Given the description of an element on the screen output the (x, y) to click on. 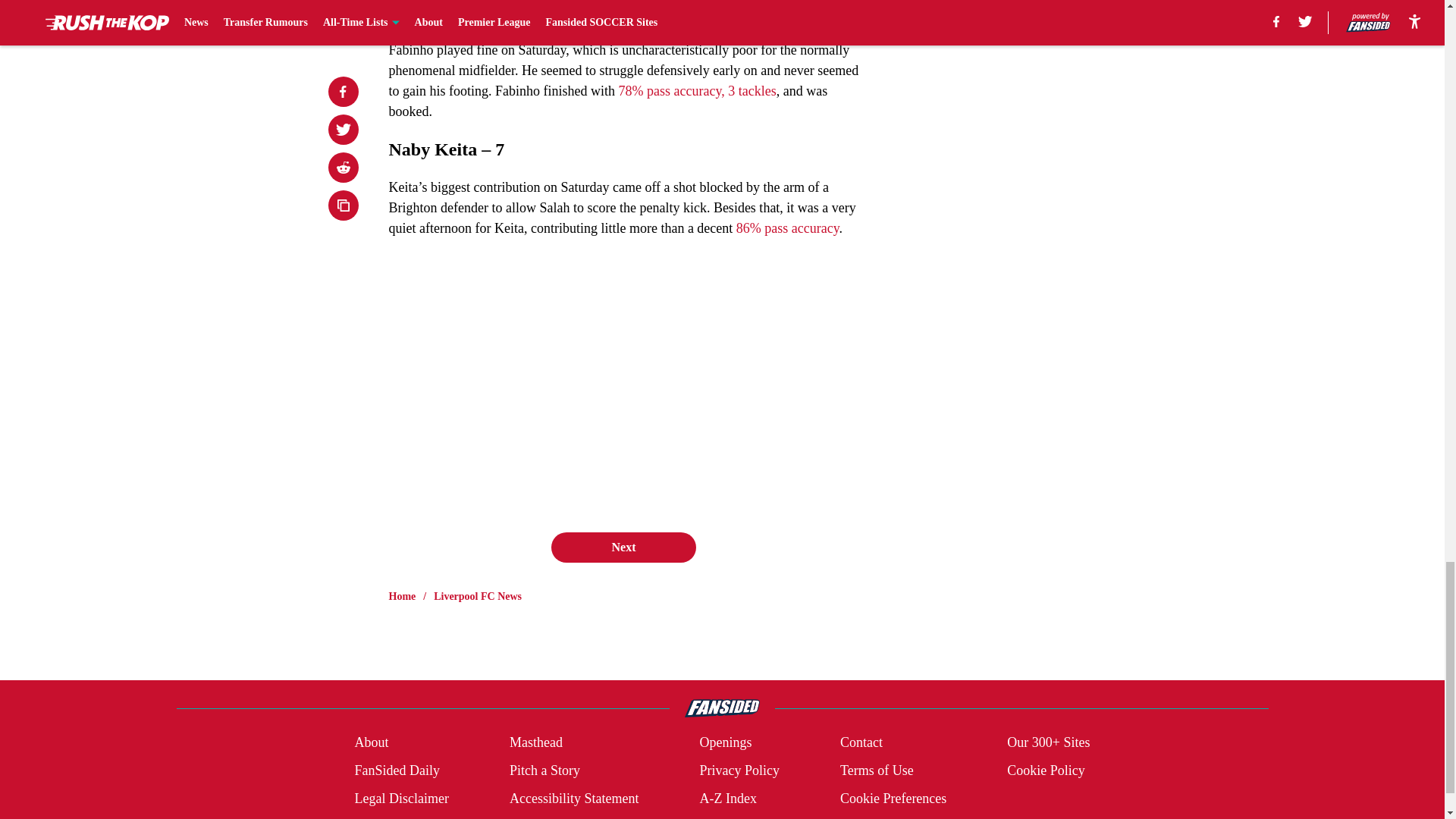
Masthead (535, 742)
Liverpool FC News (477, 596)
About (370, 742)
Openings (724, 742)
Home (401, 596)
Contact (861, 742)
Next (622, 547)
